Given the description of an element on the screen output the (x, y) to click on. 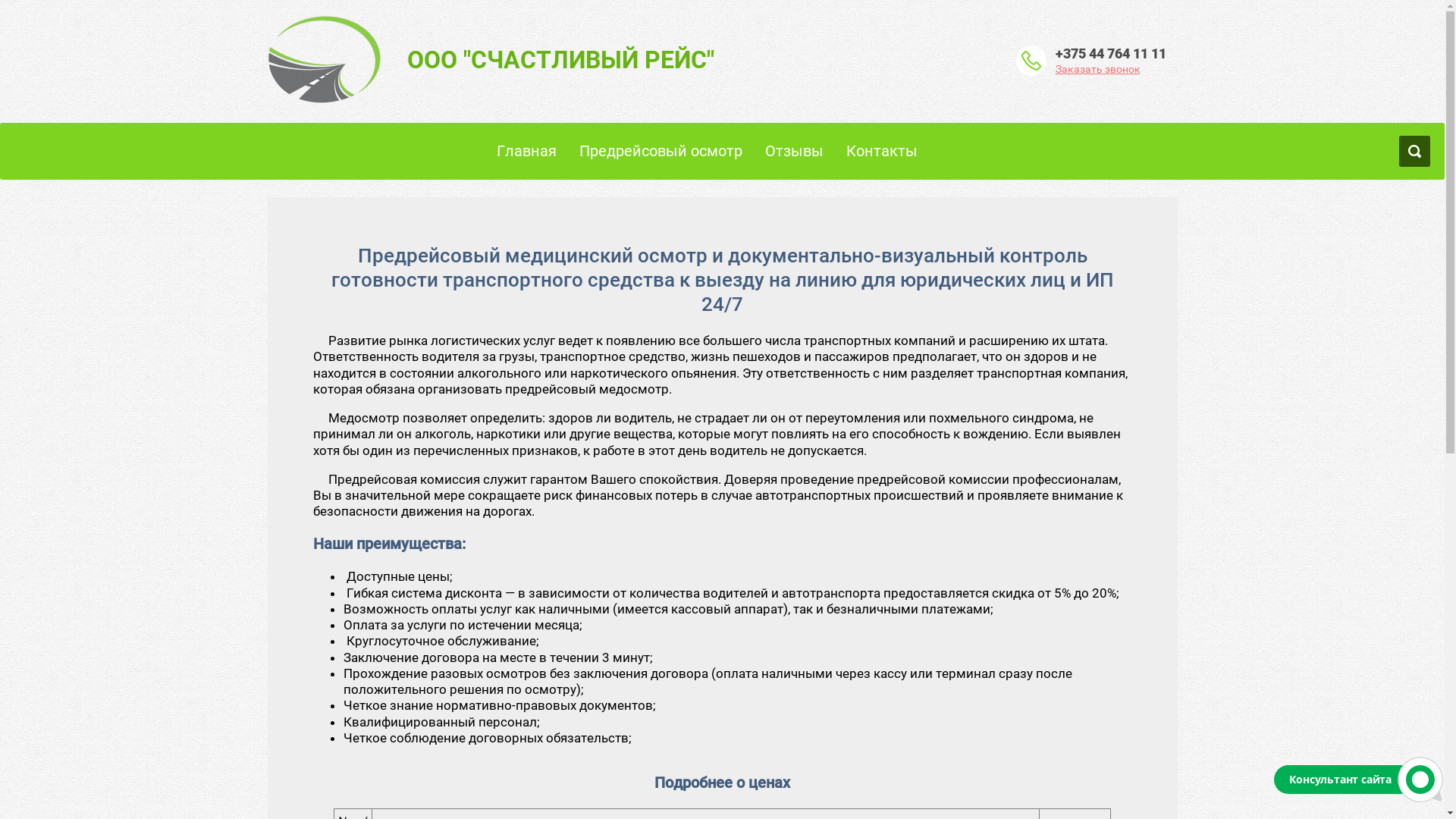
+375 44 764 11 11 Element type: text (1110, 53)
